Given the description of an element on the screen output the (x, y) to click on. 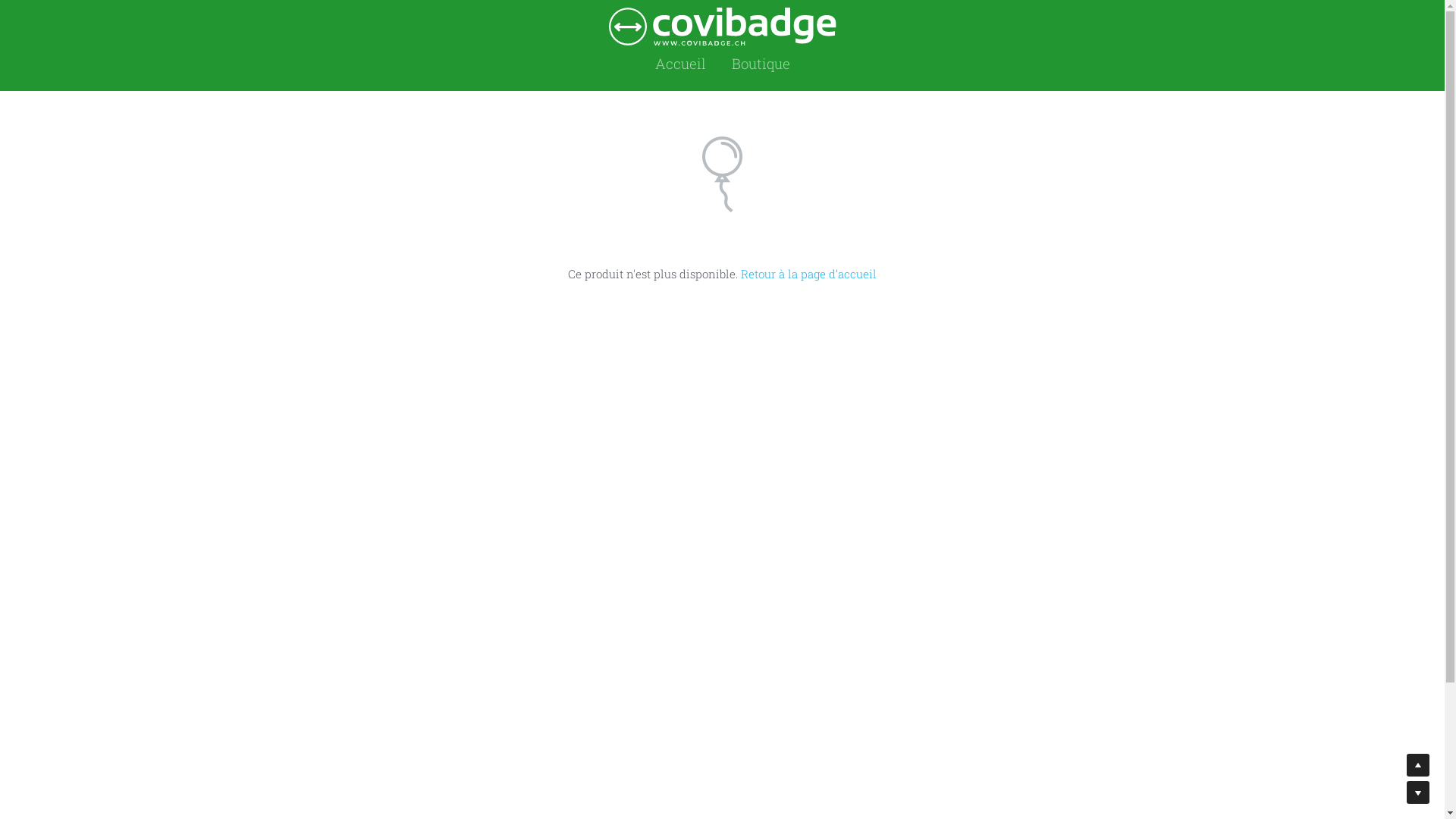
Accueil Element type: text (680, 64)
Boutique Element type: text (760, 64)
